Given the description of an element on the screen output the (x, y) to click on. 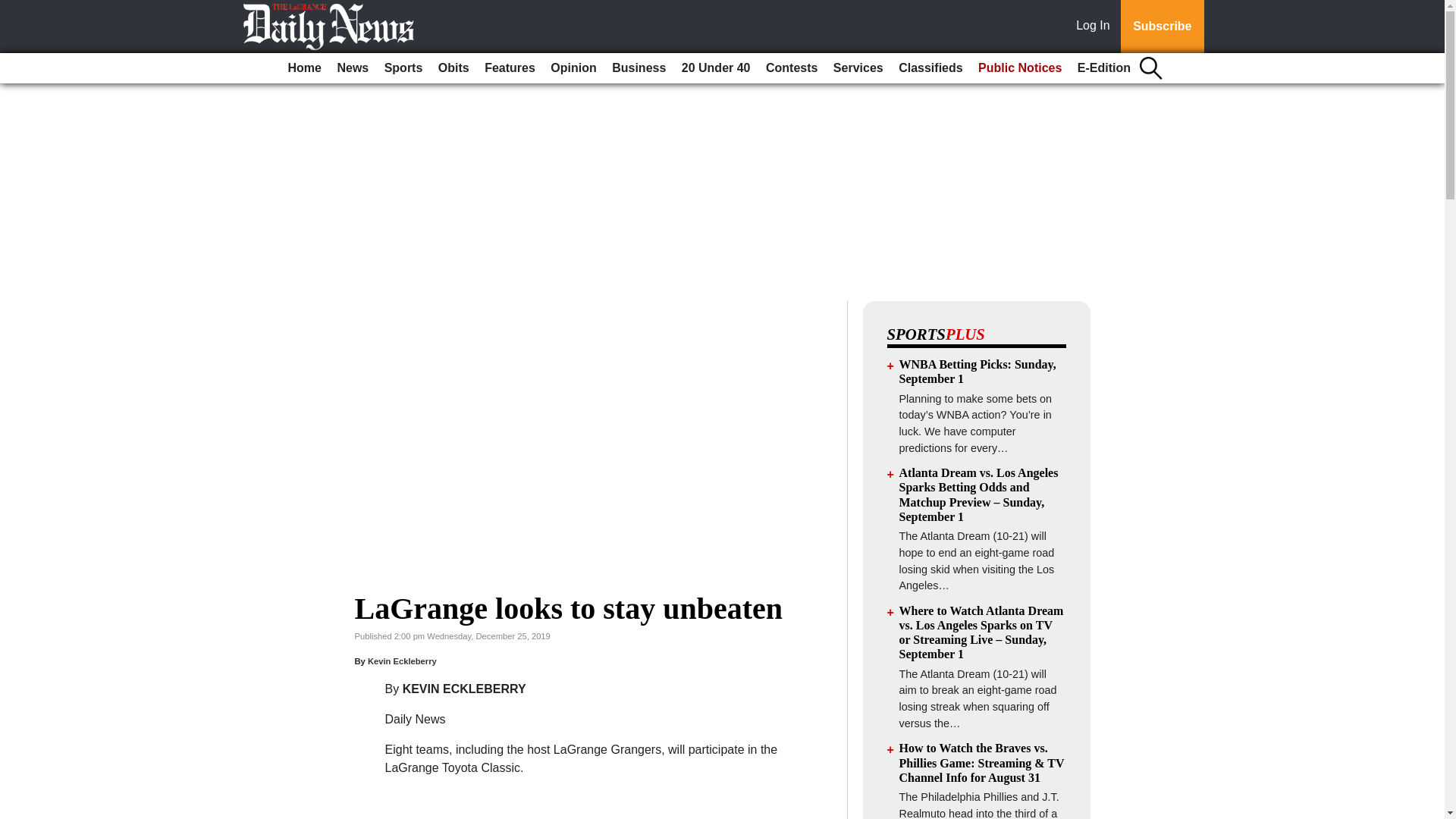
Opinion (573, 68)
E-Edition (1104, 68)
Features (510, 68)
Obits (454, 68)
Kevin Eckleberry (402, 660)
Public Notices (1019, 68)
Classifieds (930, 68)
Contests (792, 68)
Go (13, 9)
Home (304, 68)
